Given the description of an element on the screen output the (x, y) to click on. 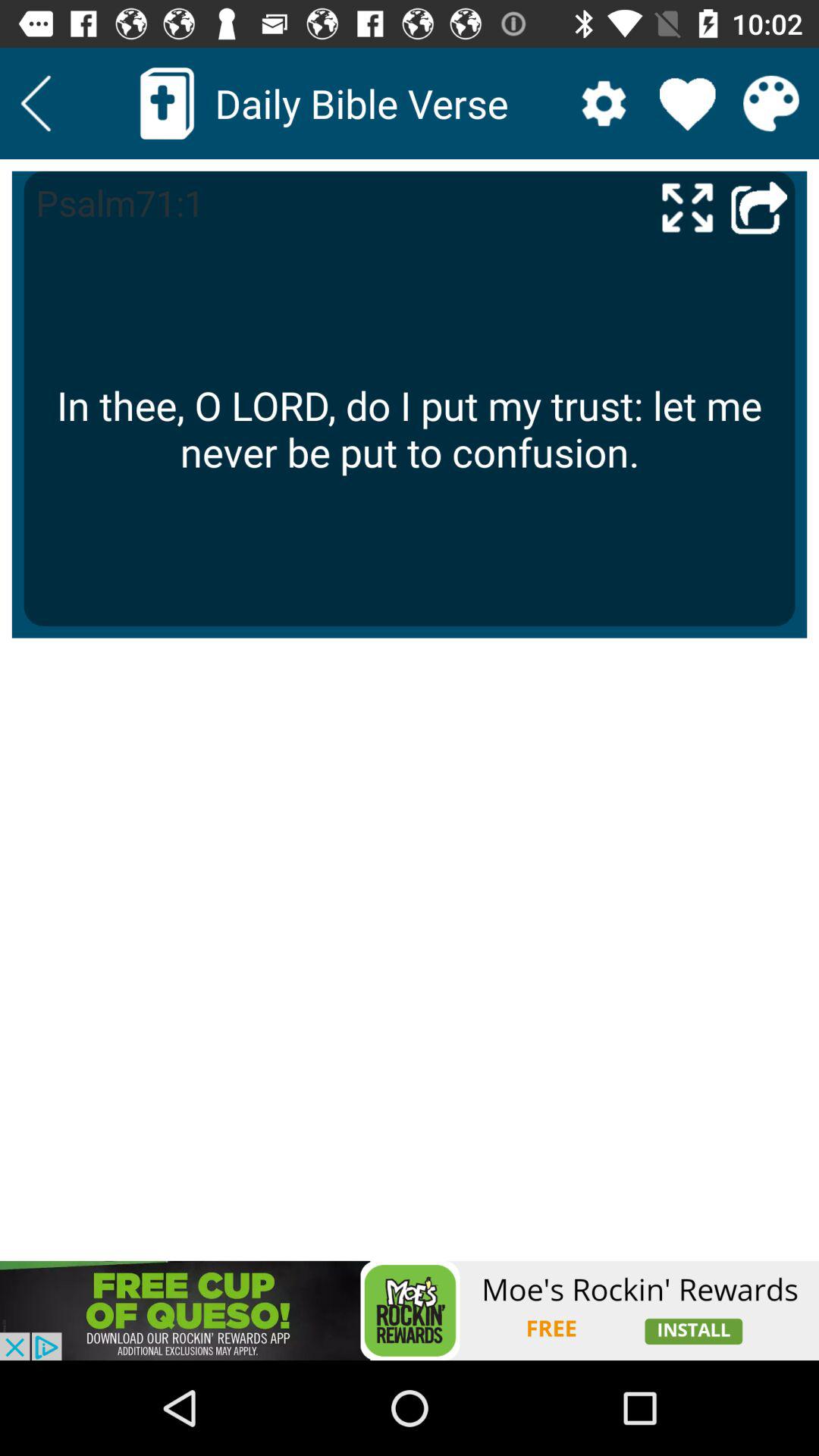
settings option (603, 103)
